Given the description of an element on the screen output the (x, y) to click on. 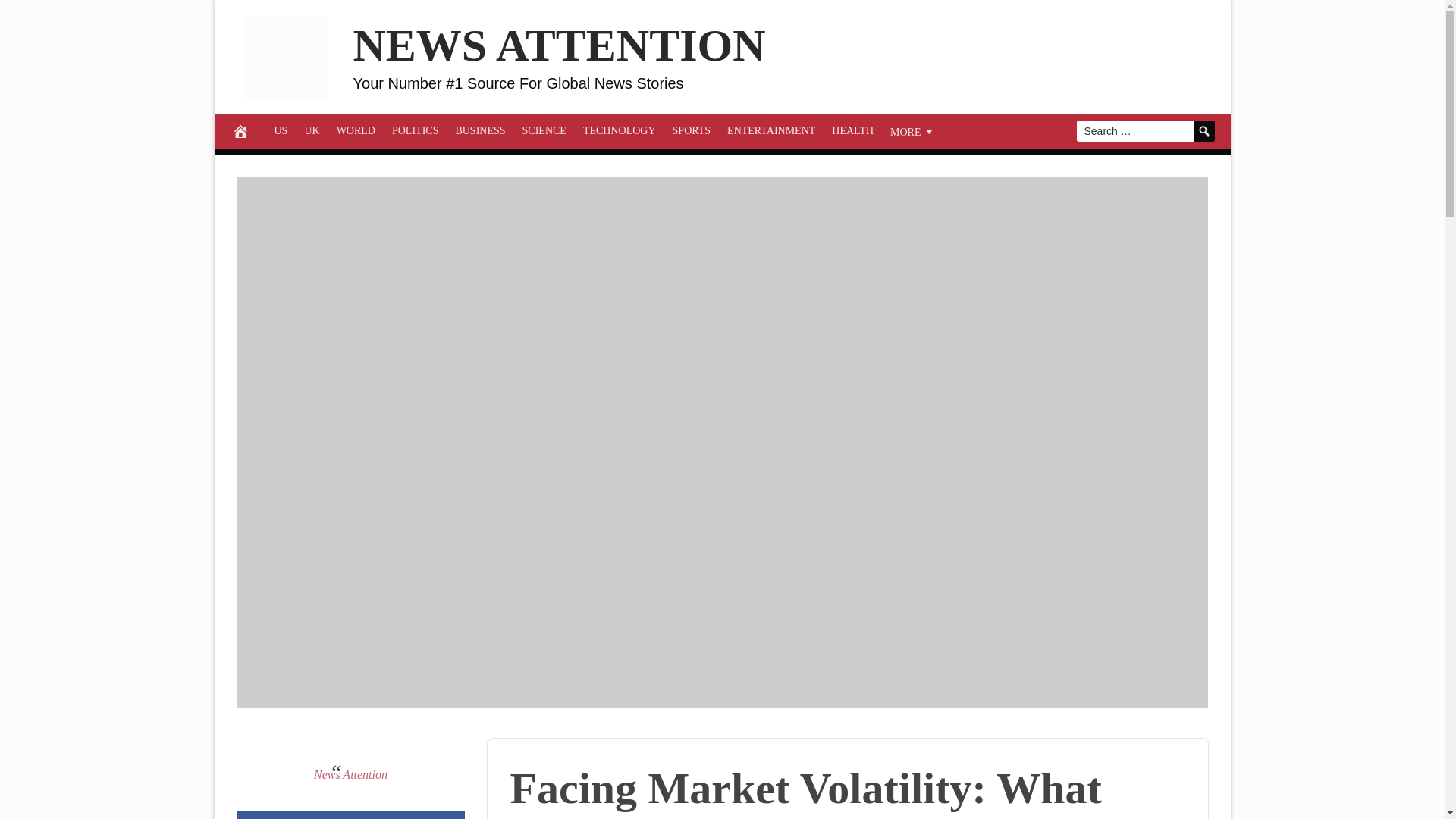
POLITICS (415, 130)
ENTERTAINMENT (771, 130)
WORLD (356, 130)
UK (311, 130)
HEALTH (853, 130)
MORE (912, 130)
NEWS ATTENTION (559, 45)
SCIENCE (544, 130)
SPORTS (691, 130)
BUSINESS (479, 130)
